Given the description of an element on the screen output the (x, y) to click on. 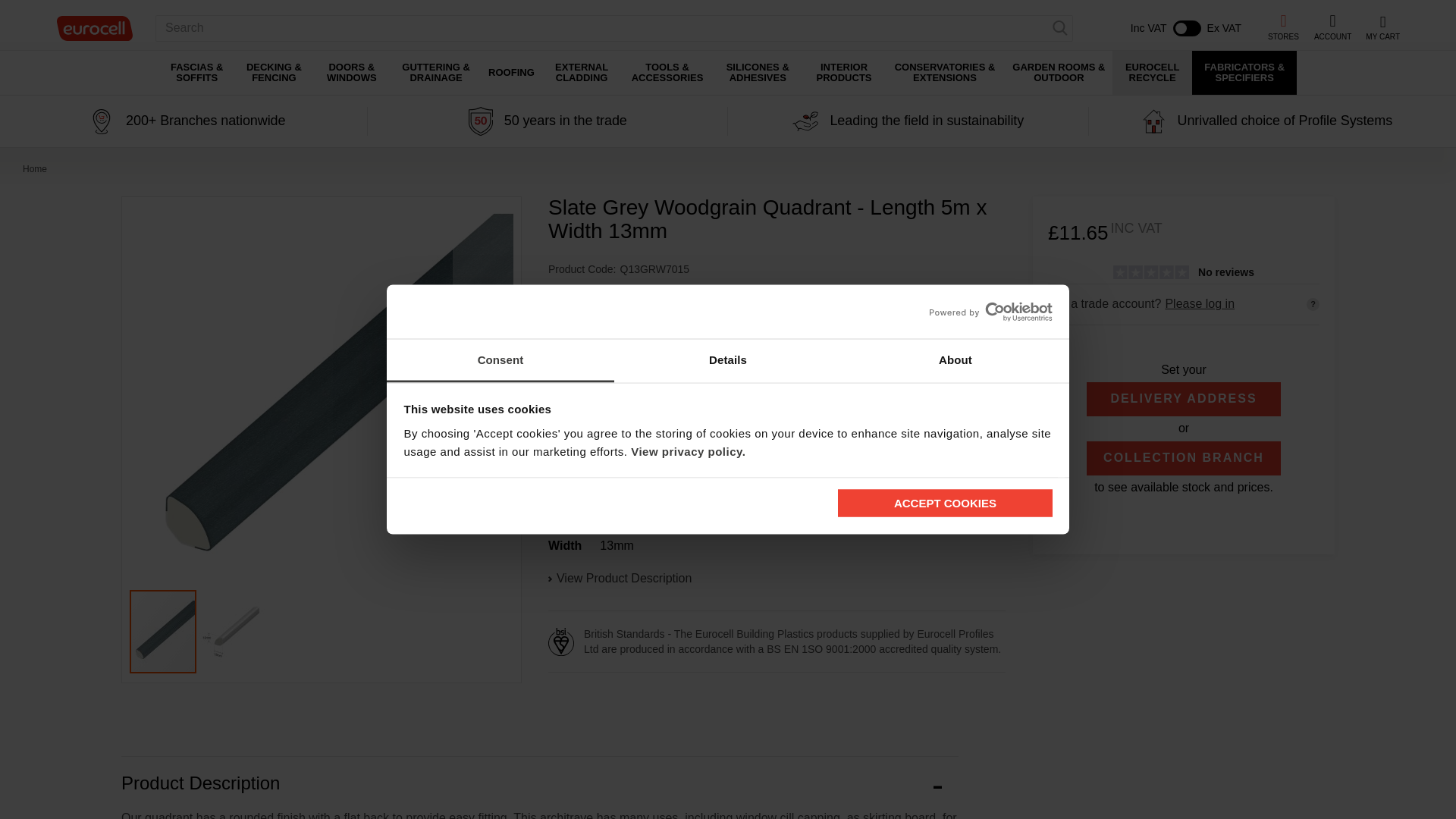
View Product Description (623, 579)
View privacy policy. (687, 450)
1 (1110, 352)
Consent (500, 360)
Details (727, 360)
About (954, 360)
View Product Description (777, 579)
